Given the description of an element on the screen output the (x, y) to click on. 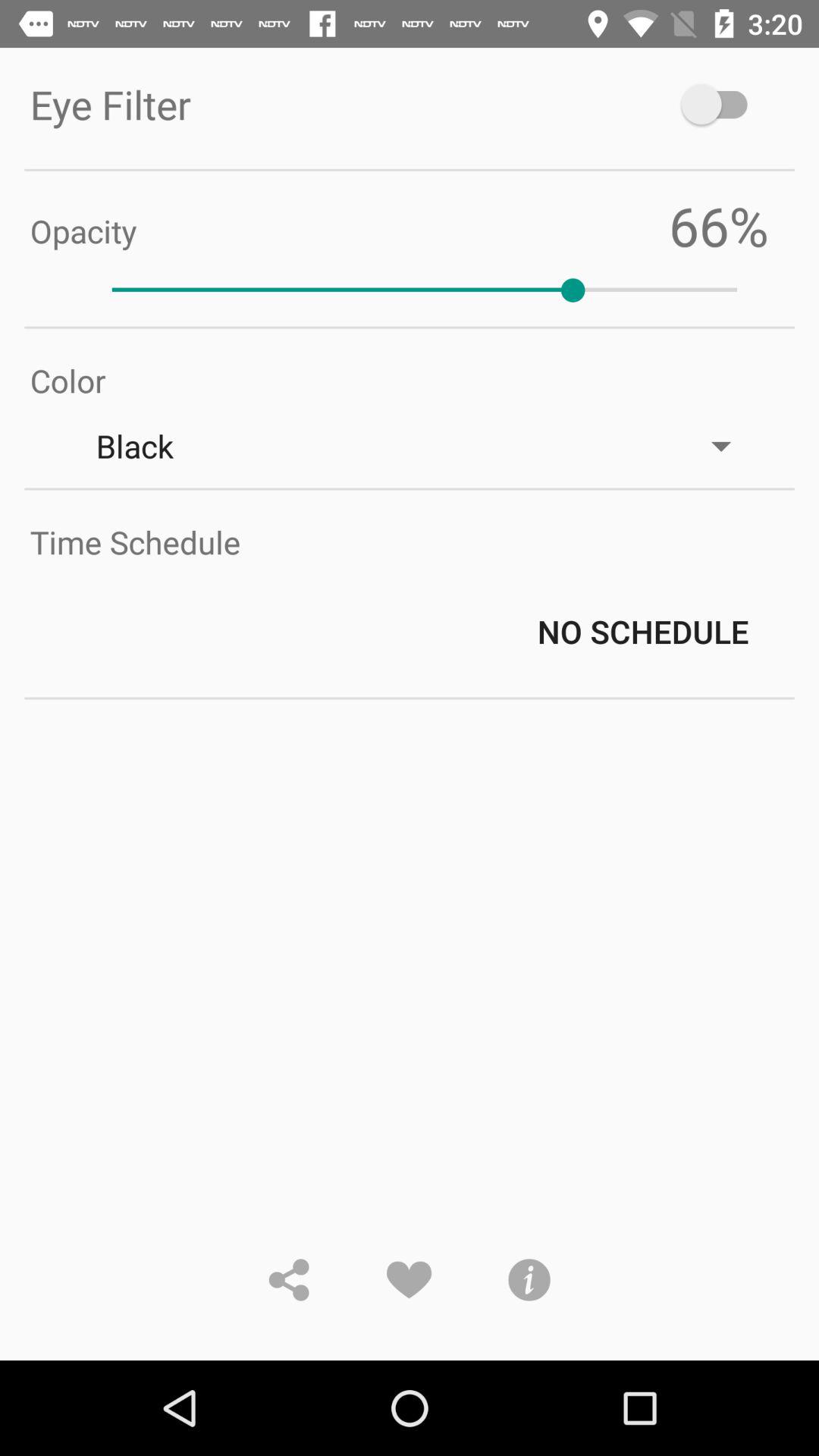
toggle eye filter option (721, 104)
